Given the description of an element on the screen output the (x, y) to click on. 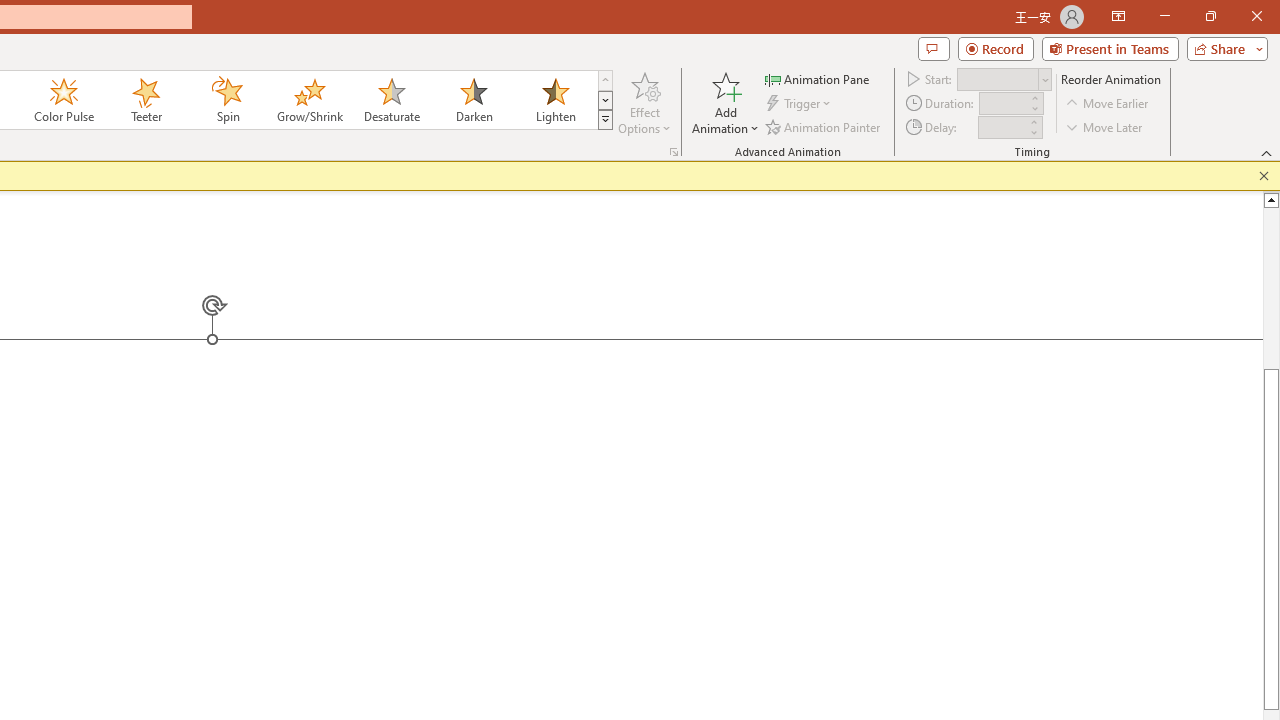
More Options... (673, 151)
Move Earlier (1107, 103)
Animation Painter (824, 126)
Add Animation (725, 102)
Animation Duration (1003, 103)
Effect Options (644, 102)
Animation Delay (1002, 127)
